Given the description of an element on the screen output the (x, y) to click on. 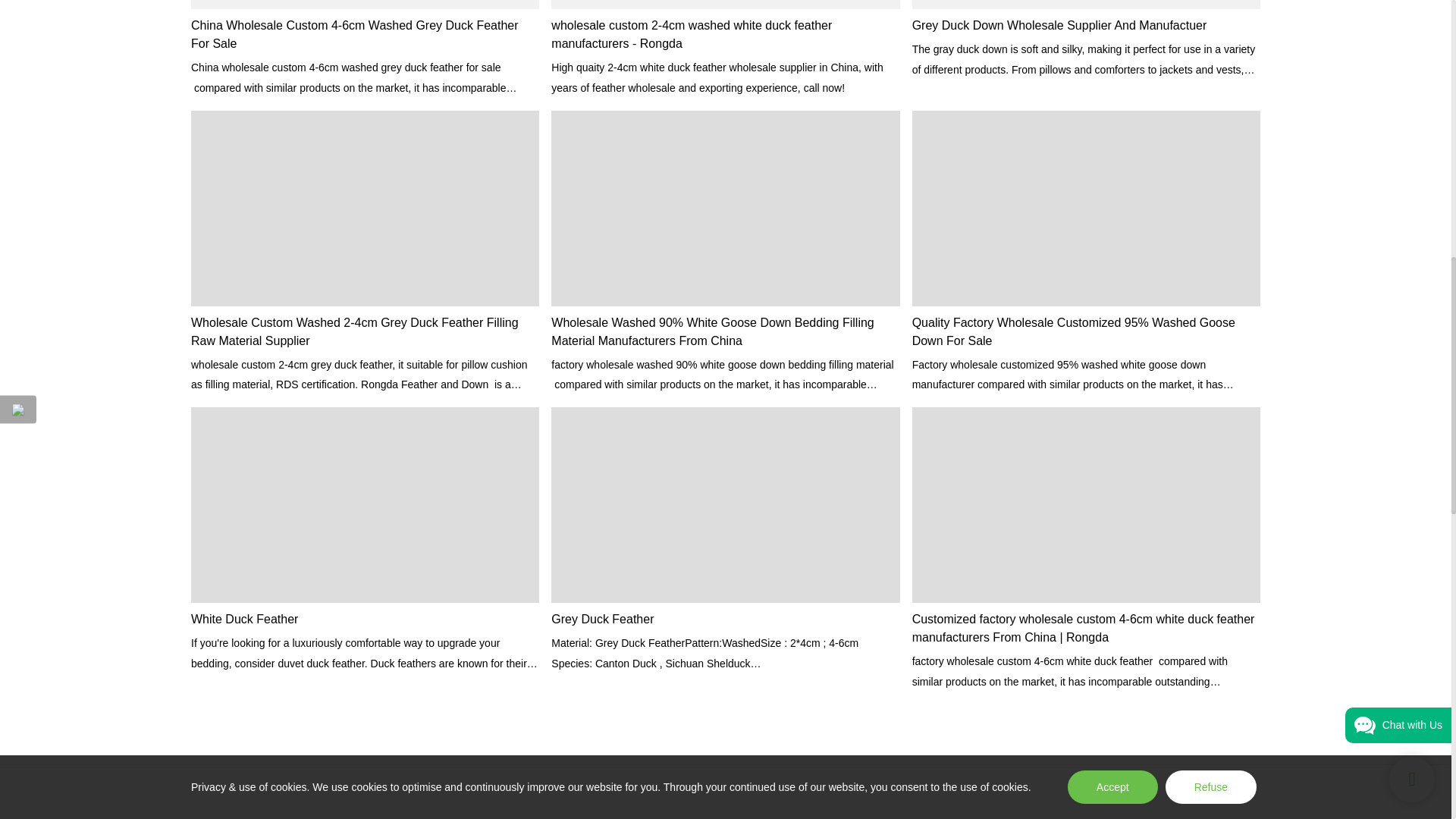
Grey Duck Down Wholesale Supplier And Manufactuer (1086, 25)
